Given the description of an element on the screen output the (x, y) to click on. 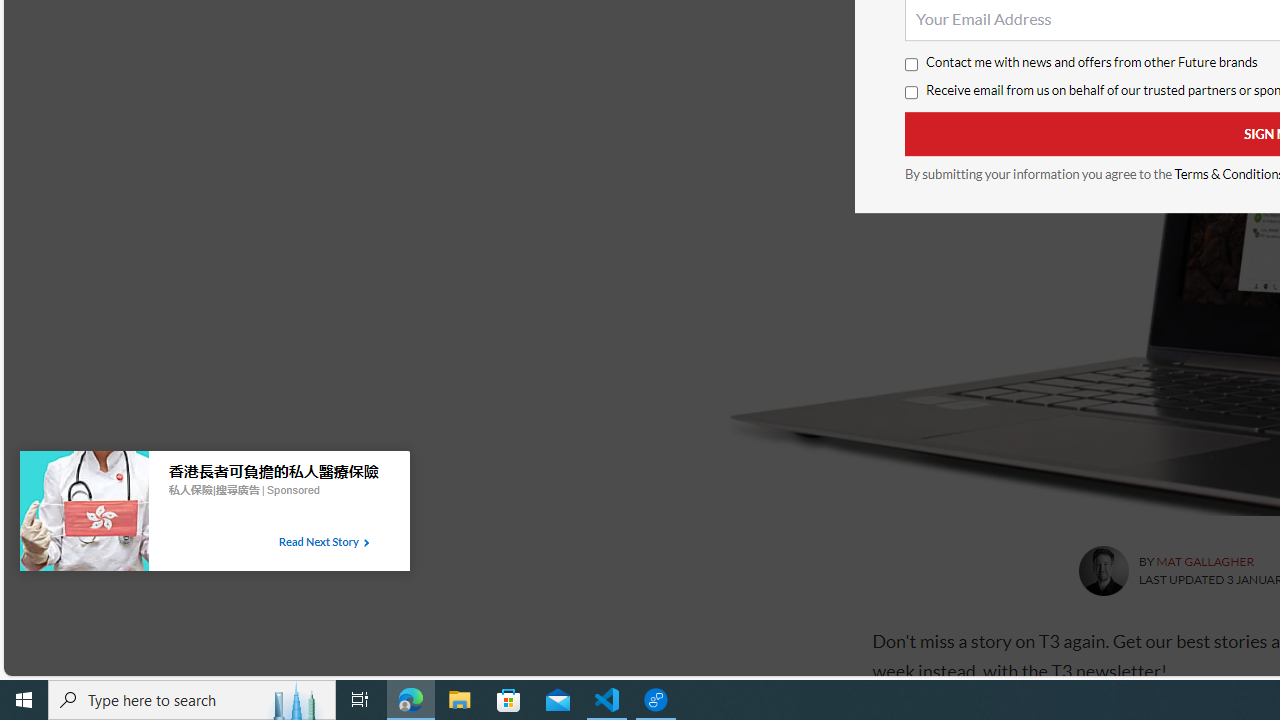
Mat Gallagher (1102, 570)
Class: tbl-arrow-icon arrow-2 (366, 543)
MAT GALLAGHER (1204, 561)
Contact me with news and offers from other Future brands (910, 65)
Image for Taboola Advertising Unit (84, 515)
Class: tbl-arrow-icon arrow-1 (366, 543)
Image for Taboola Advertising Unit (84, 515)
